Given the description of an element on the screen output the (x, y) to click on. 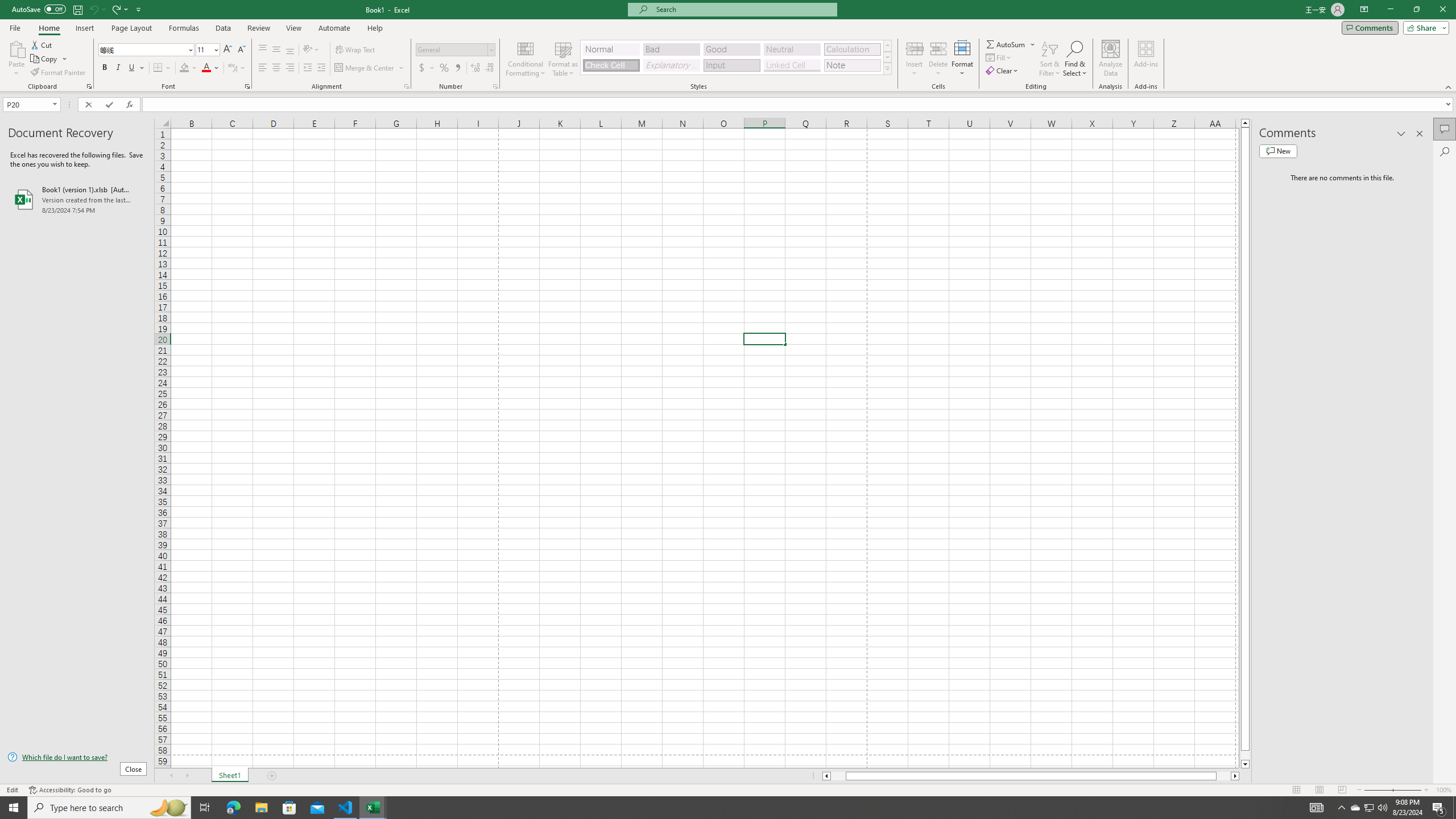
Format as Table (563, 58)
Decrease Indent (307, 67)
Format Painter (58, 72)
Merge & Center (365, 67)
Align Right (290, 67)
Middle Align (276, 49)
